Given the description of an element on the screen output the (x, y) to click on. 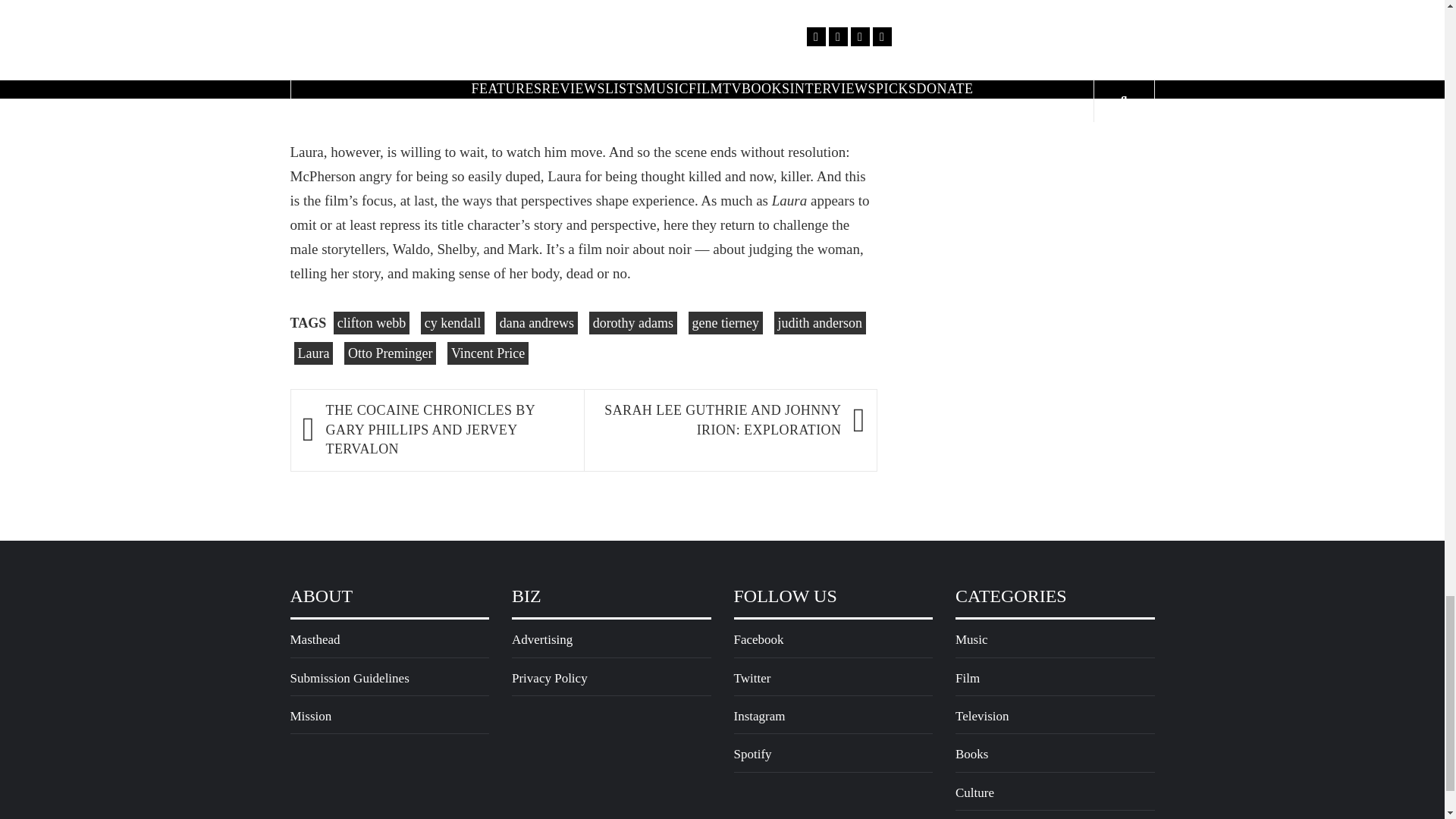
clifton webb (371, 323)
Laura (313, 353)
gene tierney (725, 323)
Otto Preminger (389, 353)
judith anderson (820, 323)
Vincent Price (487, 353)
THE COCAINE CHRONICLES BY GARY PHILLIPS AND JERVEY TERVALON (446, 430)
SARAH LEE GUTHRIE AND JOHNNY IRION: EXPLORATION (718, 420)
dorothy adams (633, 323)
cy kendall (452, 323)
dana andrews (537, 323)
